Given the description of an element on the screen output the (x, y) to click on. 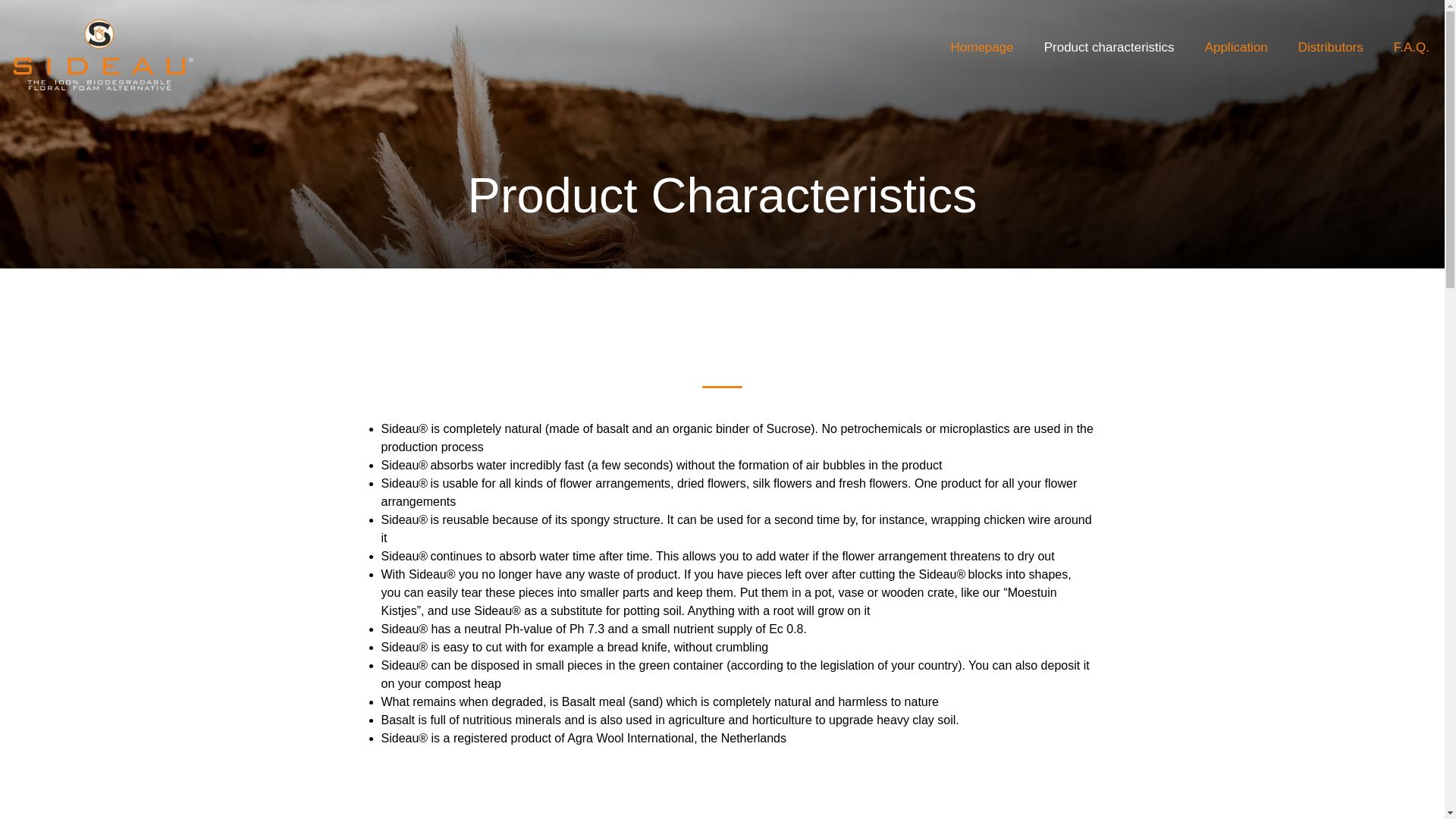
YouTube video player (721, 809)
Distributors (1330, 47)
Application (1235, 47)
Product characteristics (1109, 47)
Homepage (982, 47)
